Given the description of an element on the screen output the (x, y) to click on. 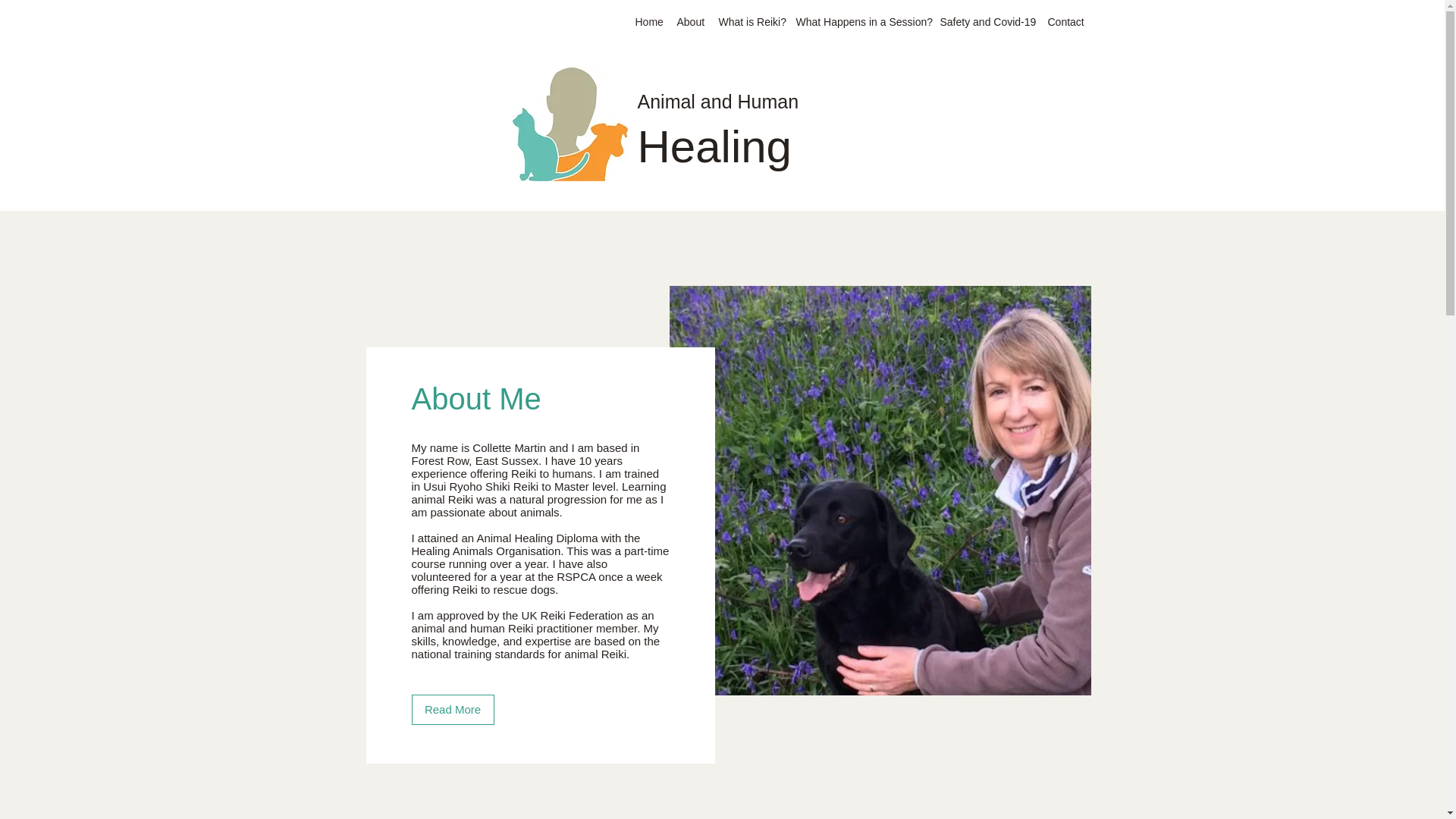
What Happens in a Session? (861, 21)
Animal and Human (717, 101)
Healing (713, 146)
Contact (1065, 21)
Read More (451, 709)
Home (648, 21)
Safety and Covid-19 (987, 21)
What is Reiki? (750, 21)
About (689, 21)
